Given the description of an element on the screen output the (x, y) to click on. 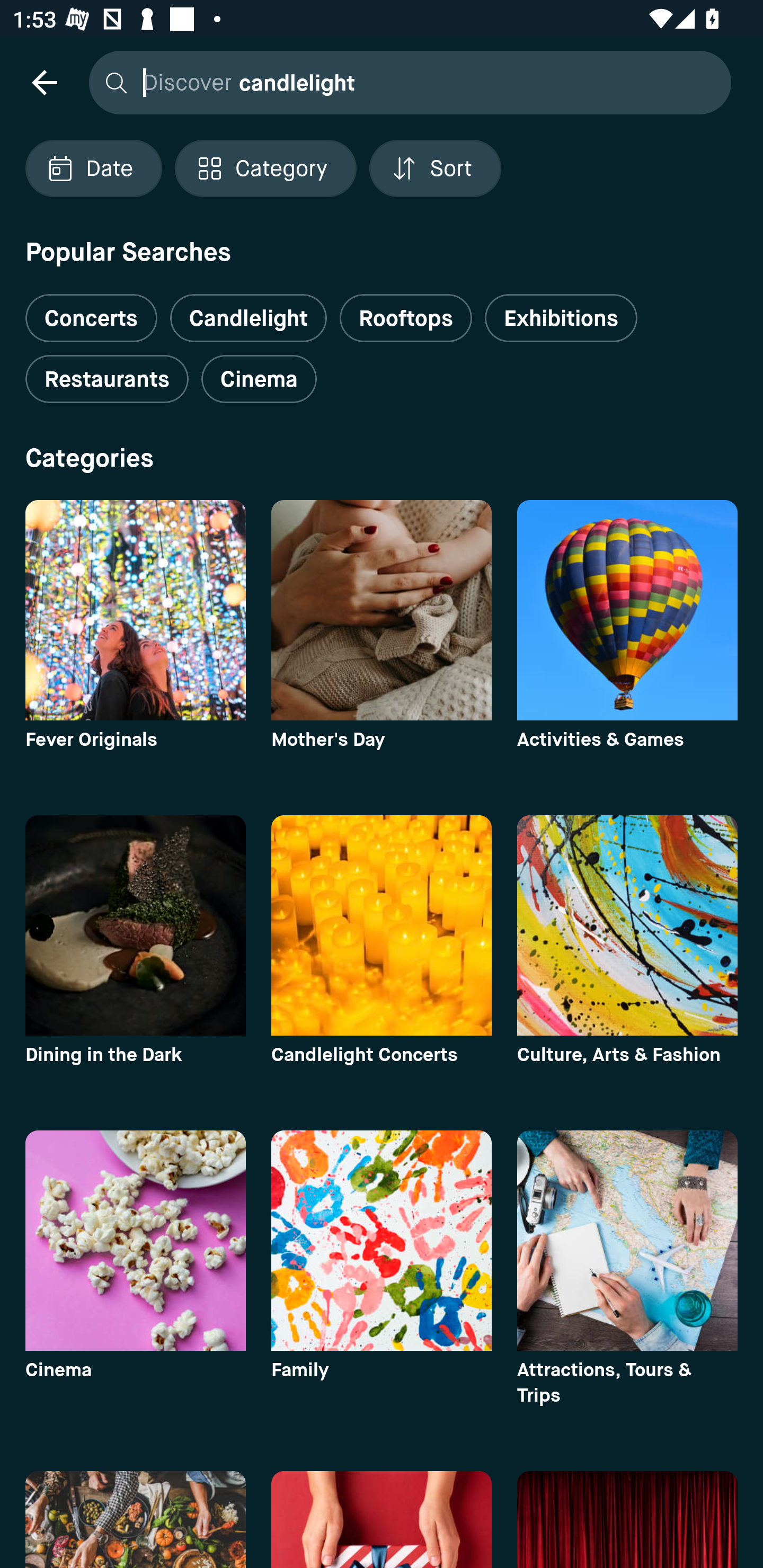
navigation icon (44, 81)
Discover candlelight (405, 81)
Localized description Date (93, 168)
Localized description Category (265, 168)
Localized description Sort (435, 168)
Concerts (91, 310)
Candlelight (248, 317)
Rooftops (405, 317)
Exhibitions (560, 317)
Restaurants (106, 379)
Cinema (258, 379)
category image (135, 609)
category image (381, 609)
category image (627, 609)
category image (135, 924)
category image (381, 924)
category image (627, 924)
category image (135, 1240)
category image (381, 1240)
category image (627, 1240)
